Given the description of an element on the screen output the (x, y) to click on. 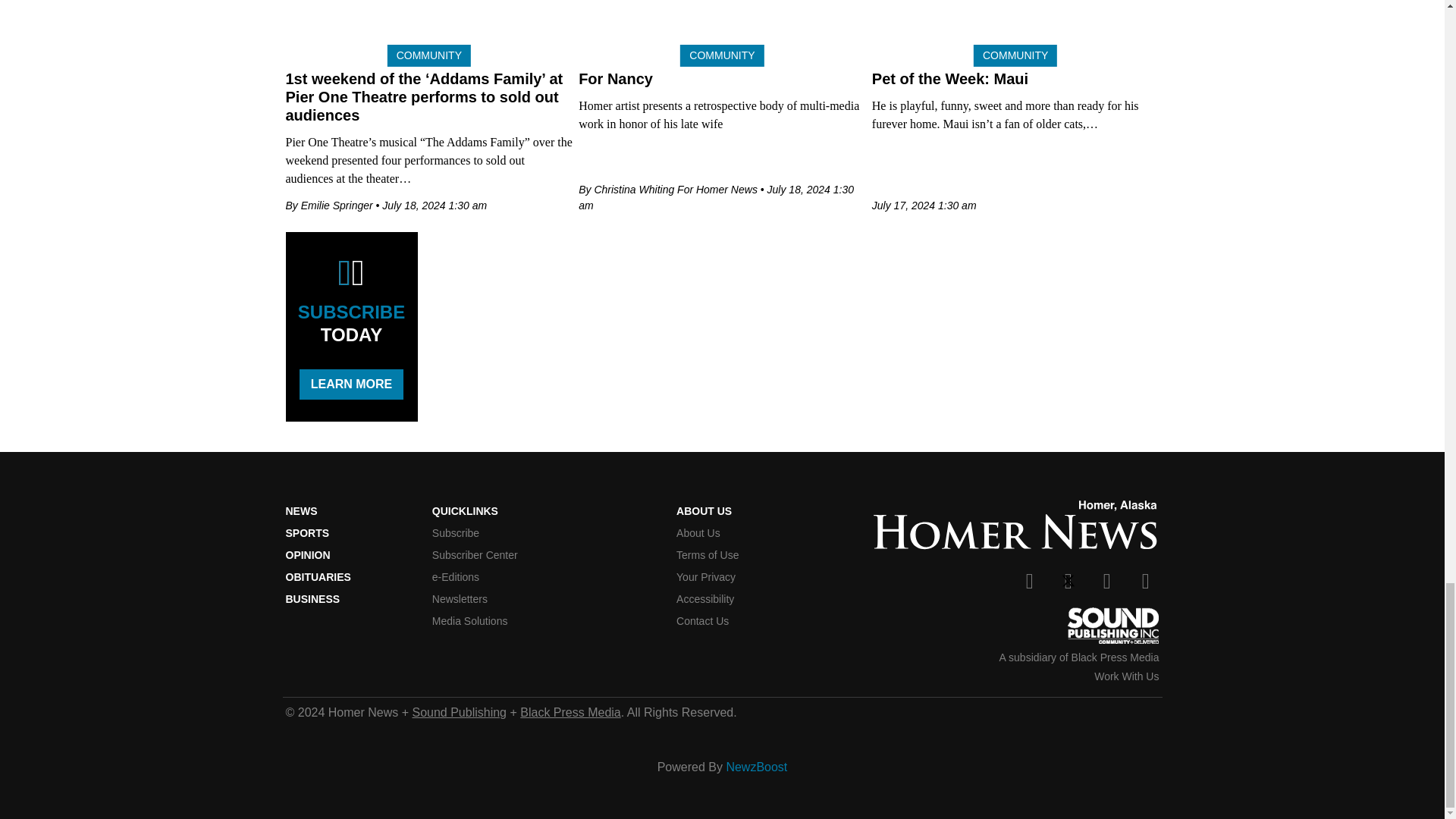
Homer News (1015, 526)
